Given the description of an element on the screen output the (x, y) to click on. 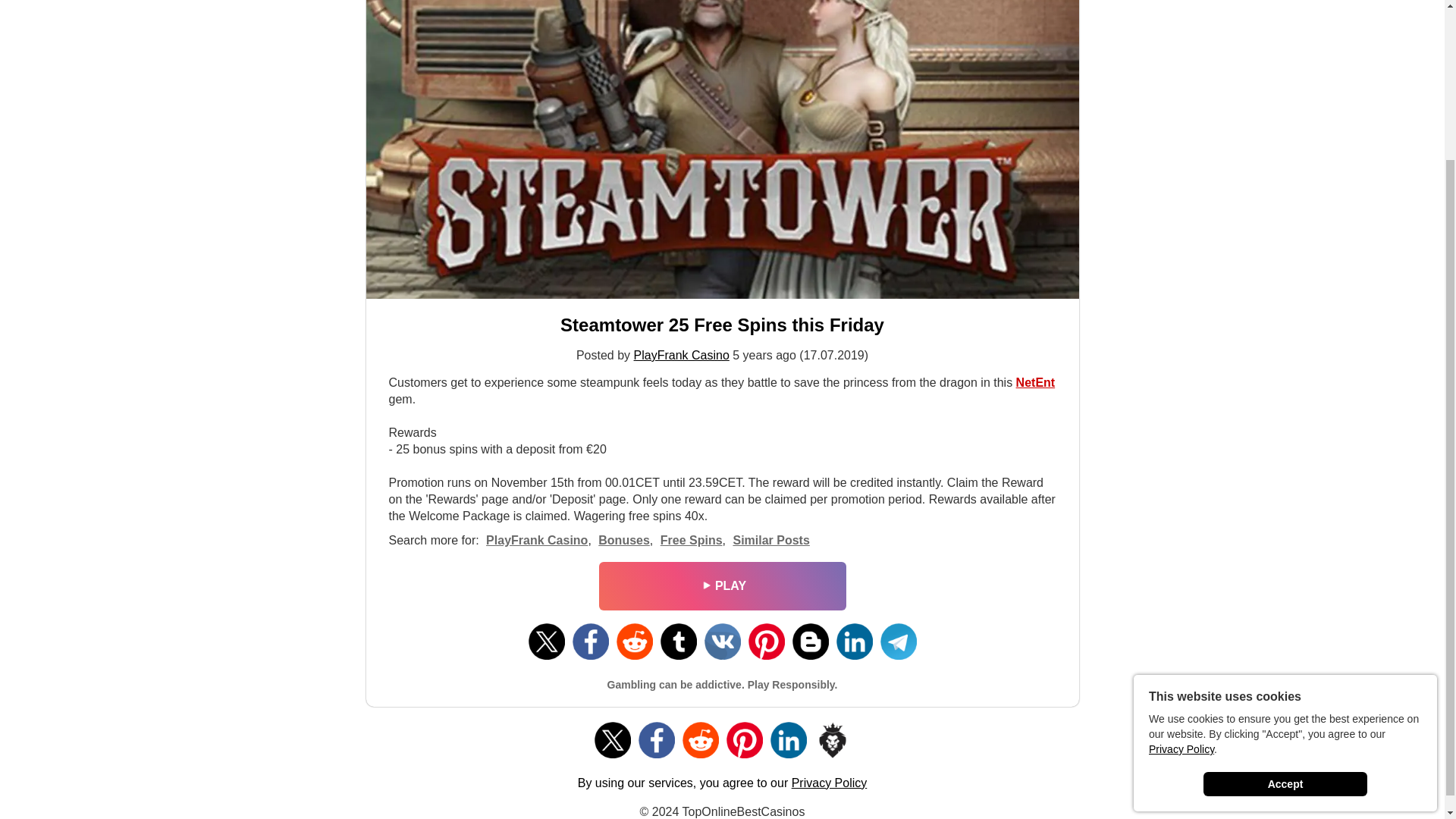
Bonuses (623, 540)
NetEnt (1035, 382)
Search for No Deposit Free Spins (623, 540)
Share on Blogger (810, 641)
Similar Posts (770, 540)
Share on Tumblr (677, 641)
Search for Similar Posts (770, 540)
Free Spins (691, 540)
PLAY (721, 586)
 Share on Reddit (633, 641)
Steamtower 25 Free Spins this Friday Site (721, 324)
Gambling can be addictive. Play Responsibly. (722, 684)
Share on Vkontakte (721, 641)
Best Online Casinos with Slots Games (1035, 382)
Privacy Policy (829, 782)
